Given the description of an element on the screen output the (x, y) to click on. 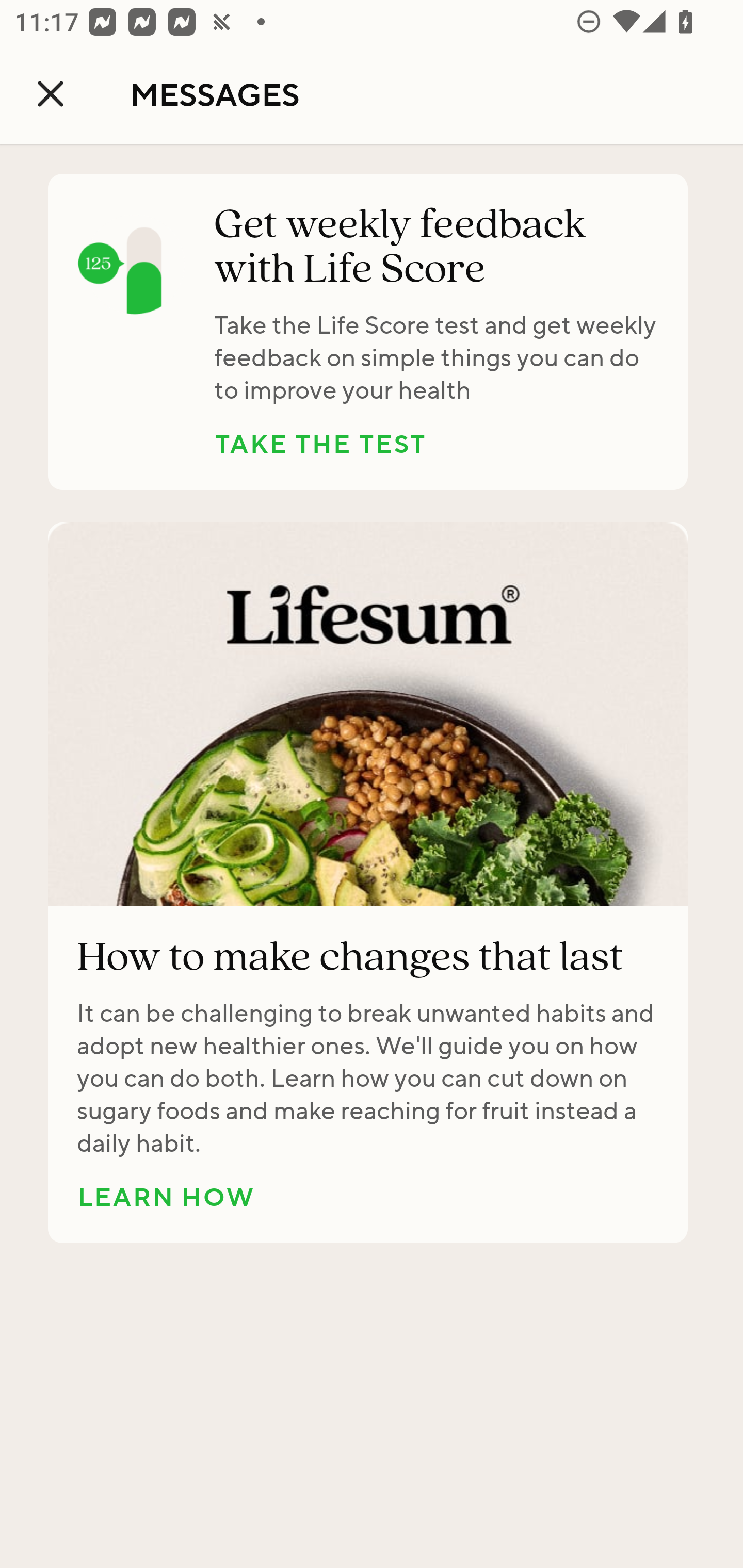
Navigate up (50, 93)
